Given the description of an element on the screen output the (x, y) to click on. 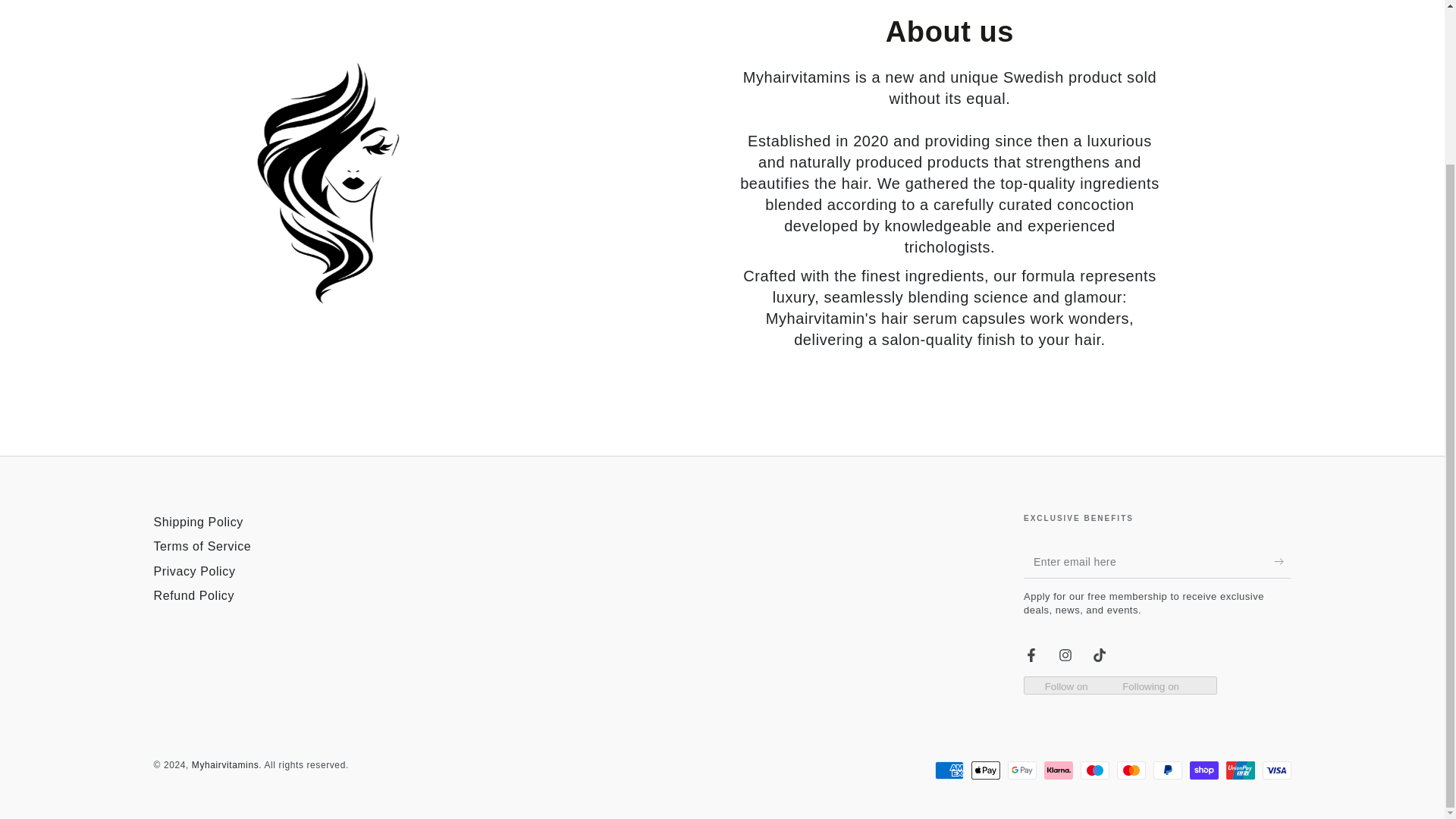
Facebook (1031, 654)
Terms of Service (201, 545)
Shipping Policy (197, 521)
Privacy Policy (193, 571)
Instagram (1064, 654)
Myhairvitamins (225, 765)
Refund Policy (193, 594)
TikTok (1099, 654)
